Given the description of an element on the screen output the (x, y) to click on. 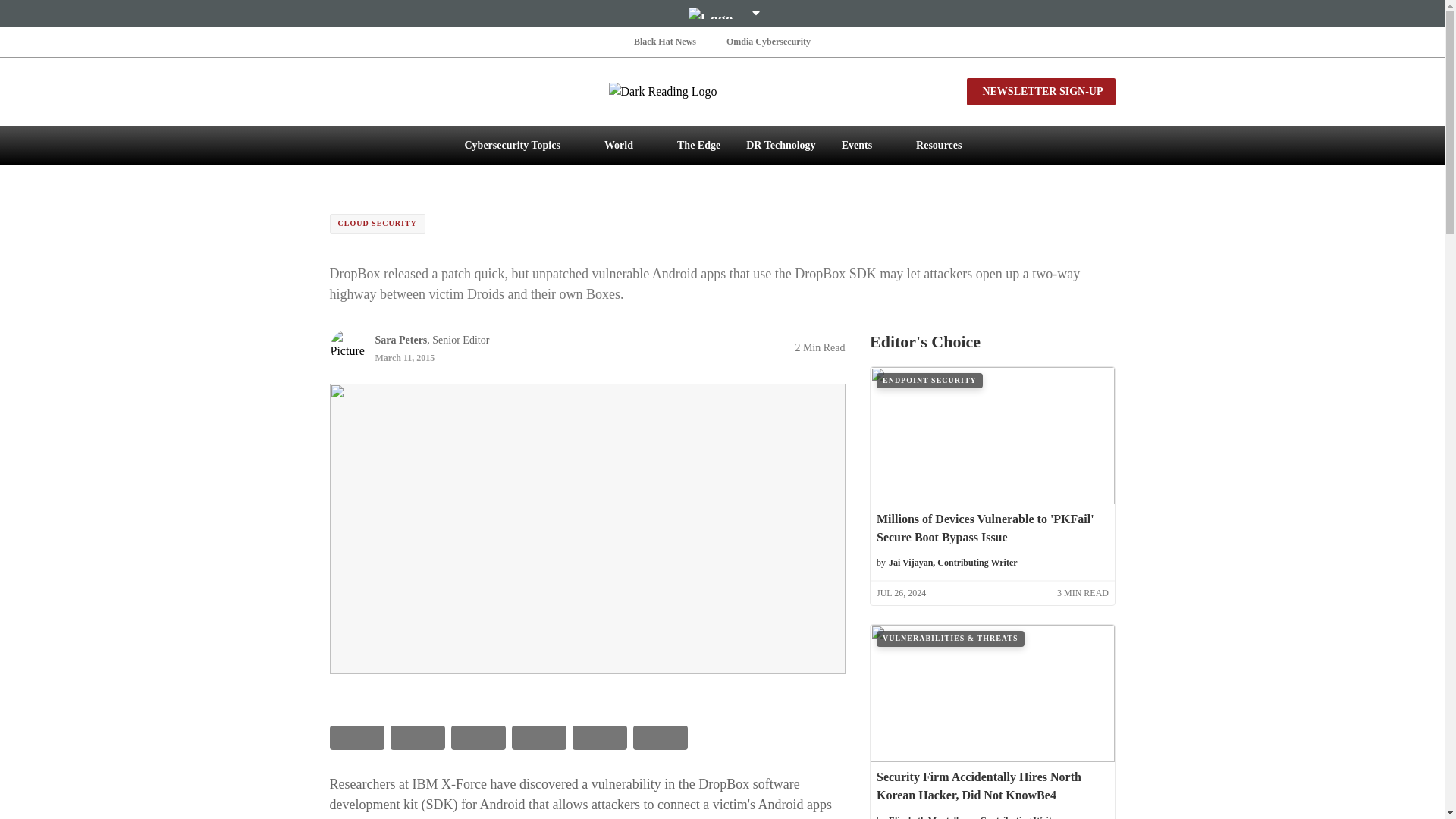
Dark Reading Logo (721, 91)
Picture of Sara Peters (347, 347)
Black Hat News (664, 41)
NEWSLETTER SIGN-UP (1040, 90)
Omdia Cybersecurity (768, 41)
